Given the description of an element on the screen output the (x, y) to click on. 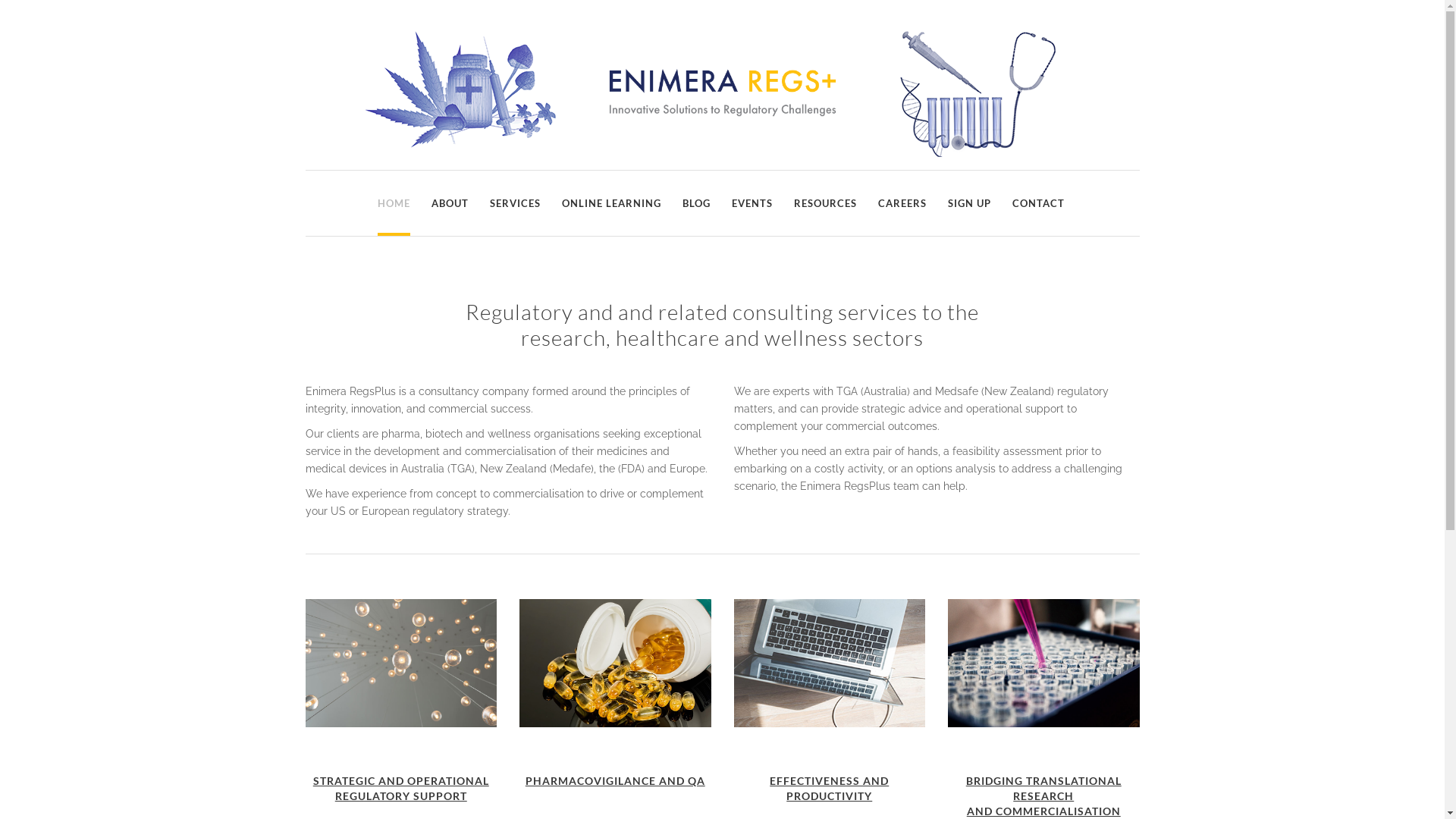
SERVICES Element type: text (515, 202)
capsules-geb5280606_1920 Element type: hover (615, 662)
STRATEGIC AND OPERATIONAL
REGULATORY SUPPORT Element type: text (401, 788)
SIGN UP Element type: text (969, 202)
HOME Element type: text (393, 202)
RESOURCES Element type: text (824, 202)
V2-strat_oper_reg_support Element type: hover (400, 662)
ONLINE LEARNING Element type: text (610, 202)
BLOG Element type: text (696, 202)
EFFECTIVENESS AND PRODUCTIVITY Element type: text (828, 788)
CONTACT Element type: text (1037, 202)
EVENTS Element type: text (751, 202)
ABOUT Element type: text (449, 202)
BRIDGING TRANSLATIONAL RESEARCH
AND COMMERCIALISATION Element type: text (1043, 795)
PHARMACOVIGILANCE AND QA Element type: text (615, 780)
2 Element type: hover (829, 662)
bridging_research Element type: hover (1043, 662)
CAREERS Element type: text (902, 202)
